Given the description of an element on the screen output the (x, y) to click on. 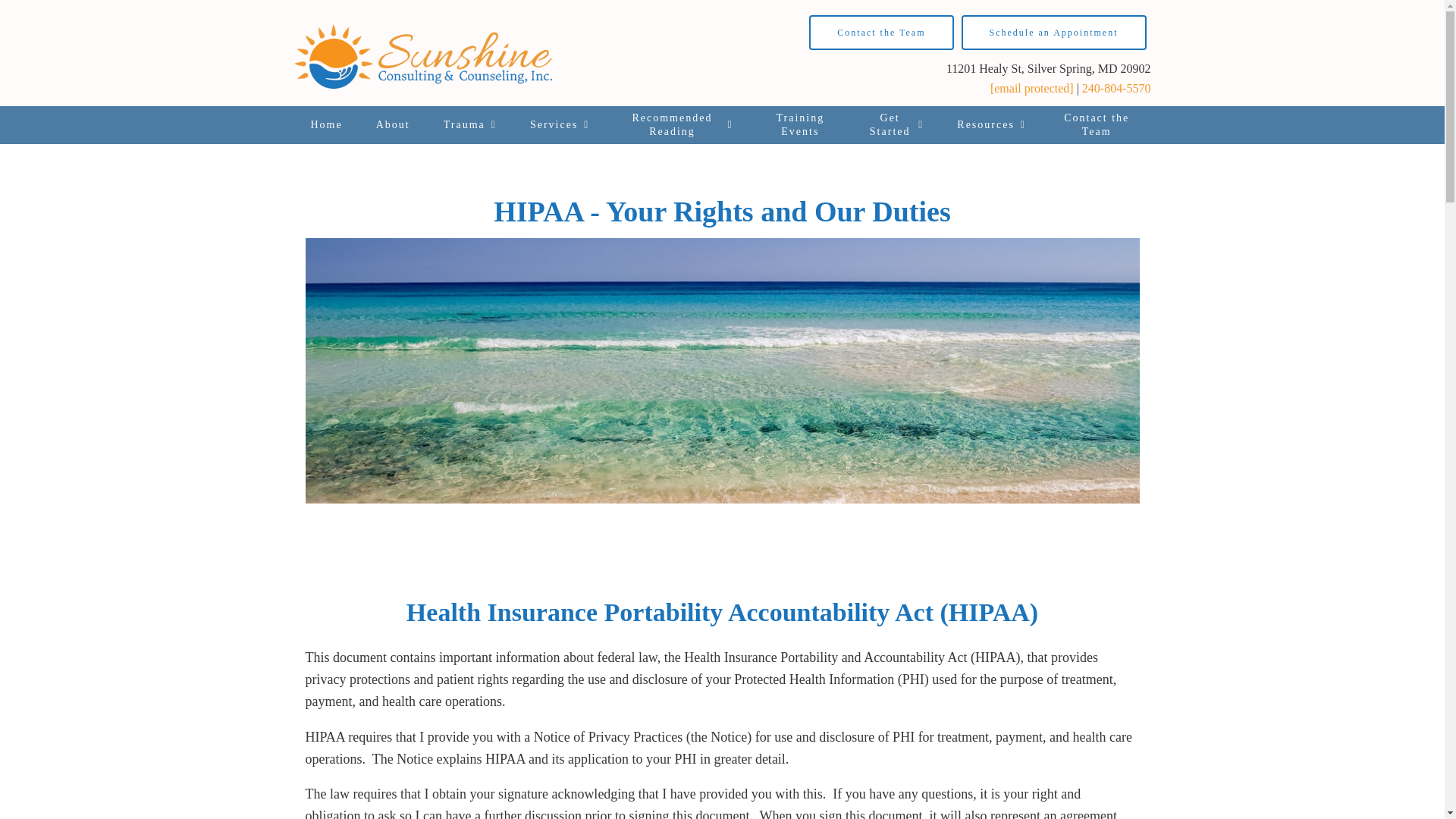
Trauma (469, 125)
About (392, 125)
Recommended Reading (677, 125)
Services (560, 125)
Home (326, 125)
